Given the description of an element on the screen output the (x, y) to click on. 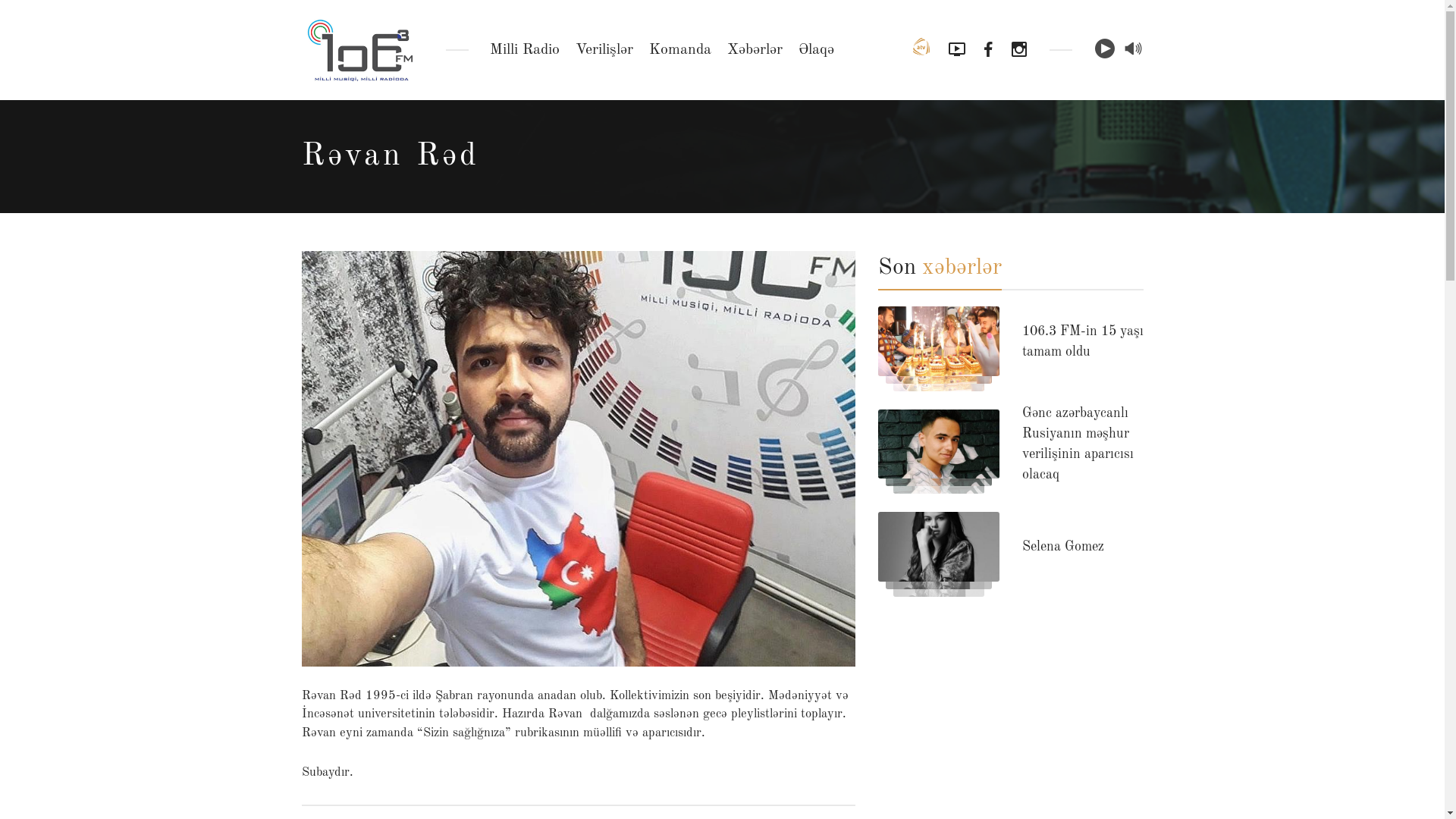
Instagram Element type: text (1019, 48)
Milli Radio Element type: text (524, 49)
Selena Gomez Element type: text (1063, 546)
Komanda Element type: text (680, 49)
Facebook Element type: text (988, 48)
ATV Element type: hover (921, 49)
